Given the description of an element on the screen output the (x, y) to click on. 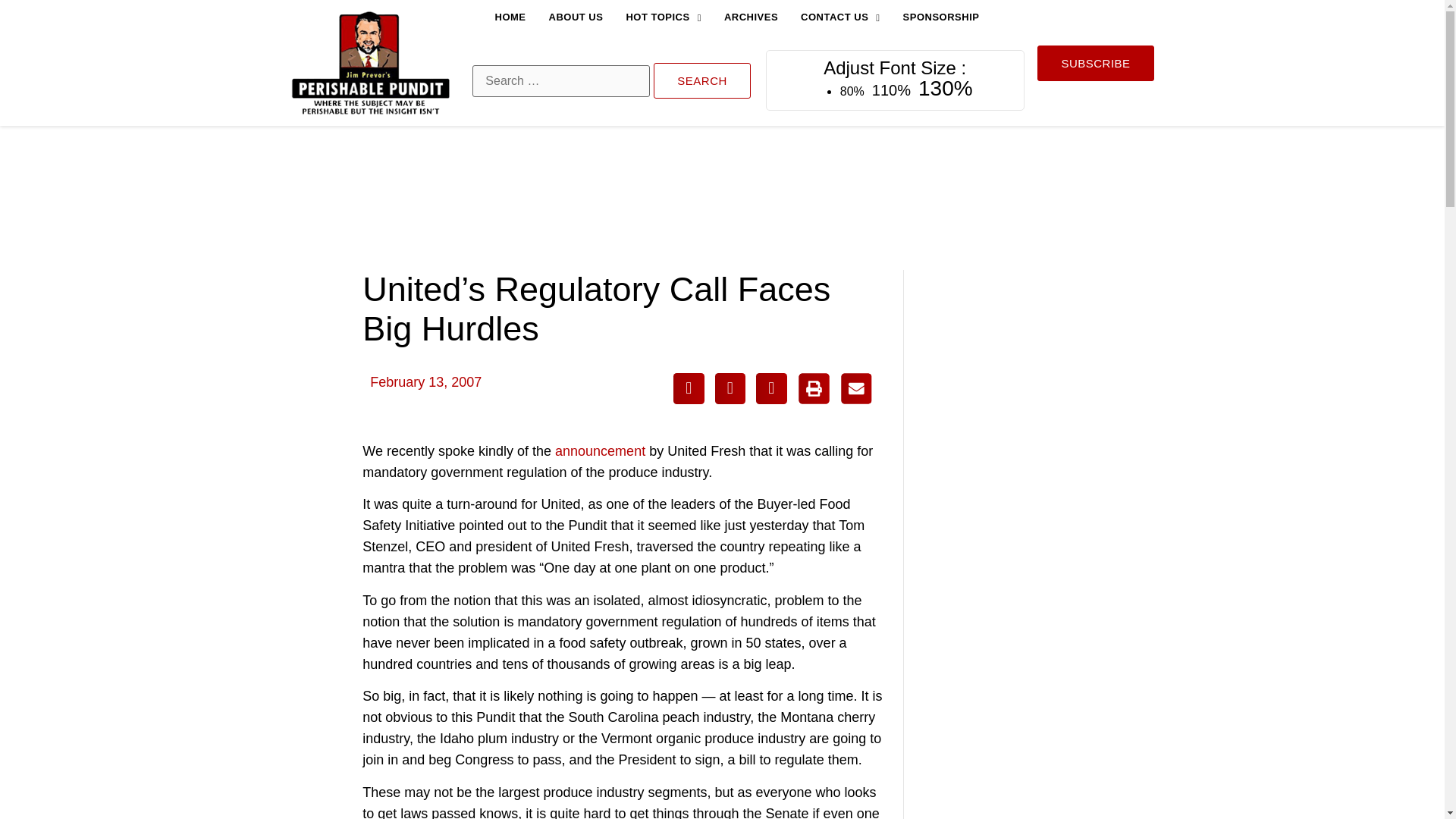
HOME (510, 17)
Search (702, 79)
Search (702, 79)
ABOUT US (576, 17)
CONTACT US (840, 17)
3rd party ad content (1040, 371)
SPONSORSHIP (940, 17)
ARCHIVES (750, 17)
HOT TOPICS (663, 17)
3rd party ad content (721, 197)
